Given the description of an element on the screen output the (x, y) to click on. 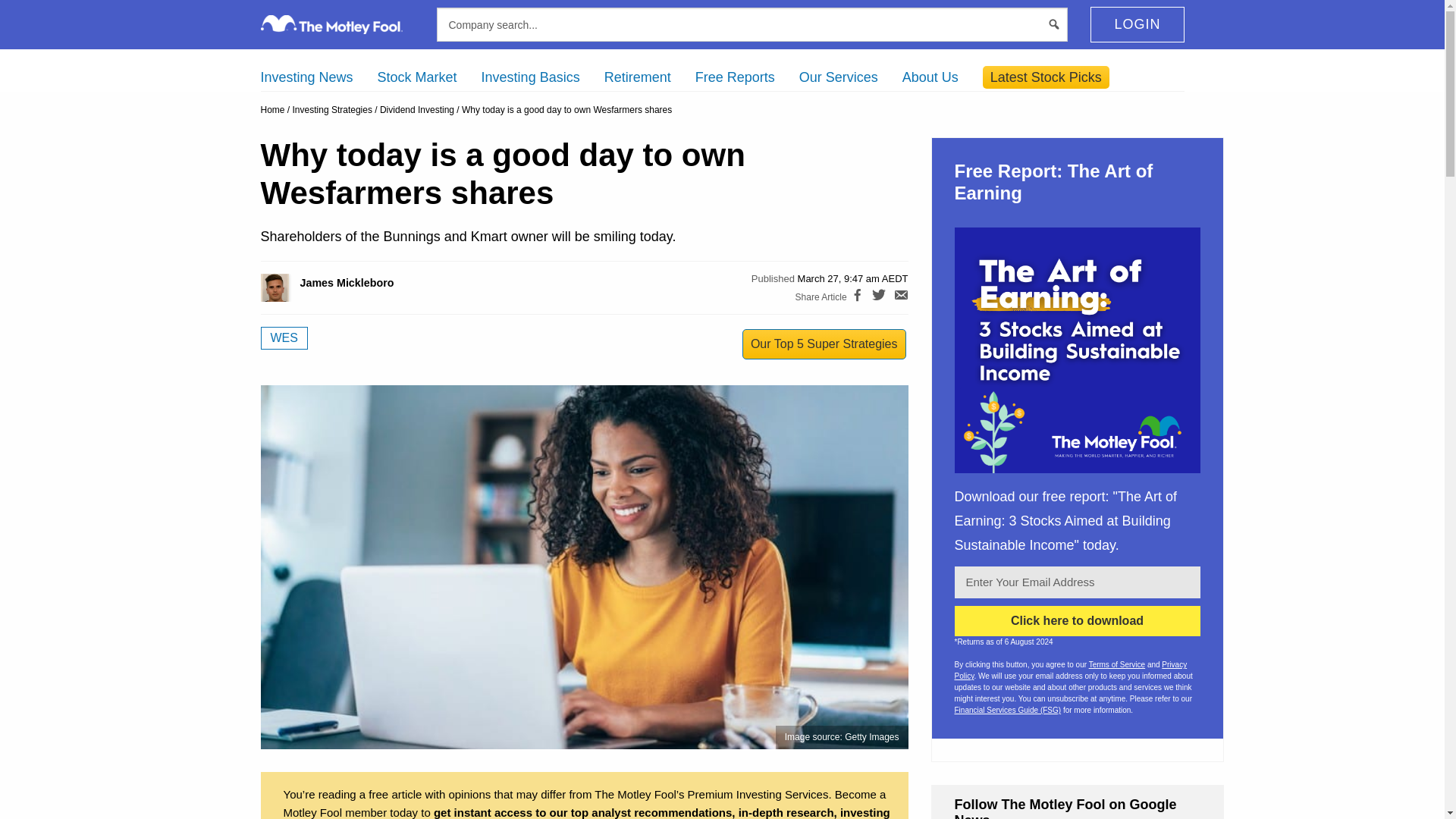
See more articles about WES (283, 337)
LOGIN (1136, 24)
Investing News (306, 78)
James Mickleboro (290, 287)
Stock Market (417, 78)
